Given the description of an element on the screen output the (x, y) to click on. 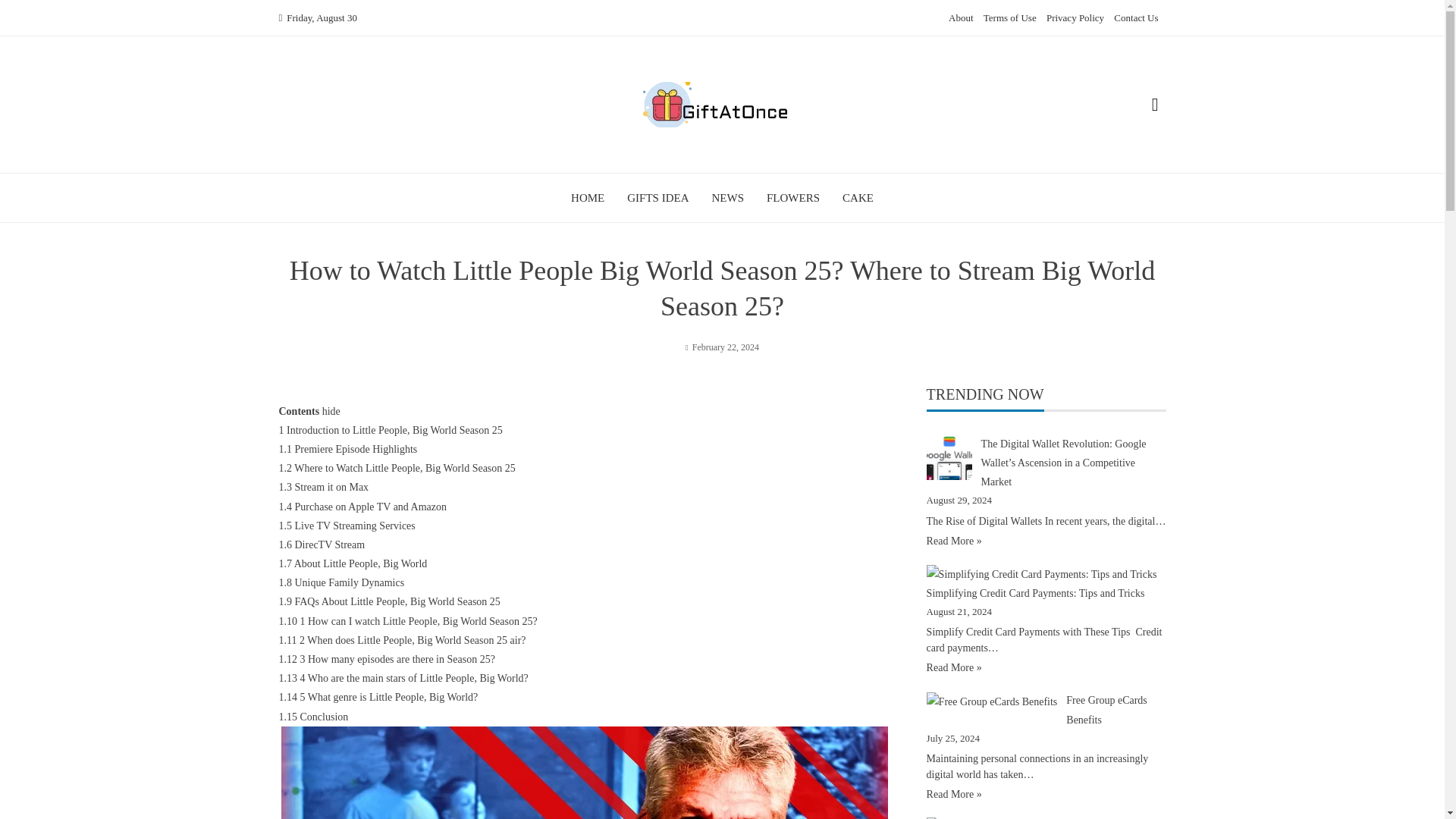
HOME (587, 197)
1.13 4 Who are the main stars of Little People, Big World? (403, 677)
1.6 DirecTV Stream (322, 544)
Privacy Policy (1074, 17)
NEWS (727, 197)
FLOWERS (793, 197)
1.15 Conclusion (314, 716)
1.8 Unique Family Dynamics (341, 582)
1.11 2 When does Little People, Big World Season 25 air? (402, 640)
hide (330, 410)
